Given the description of an element on the screen output the (x, y) to click on. 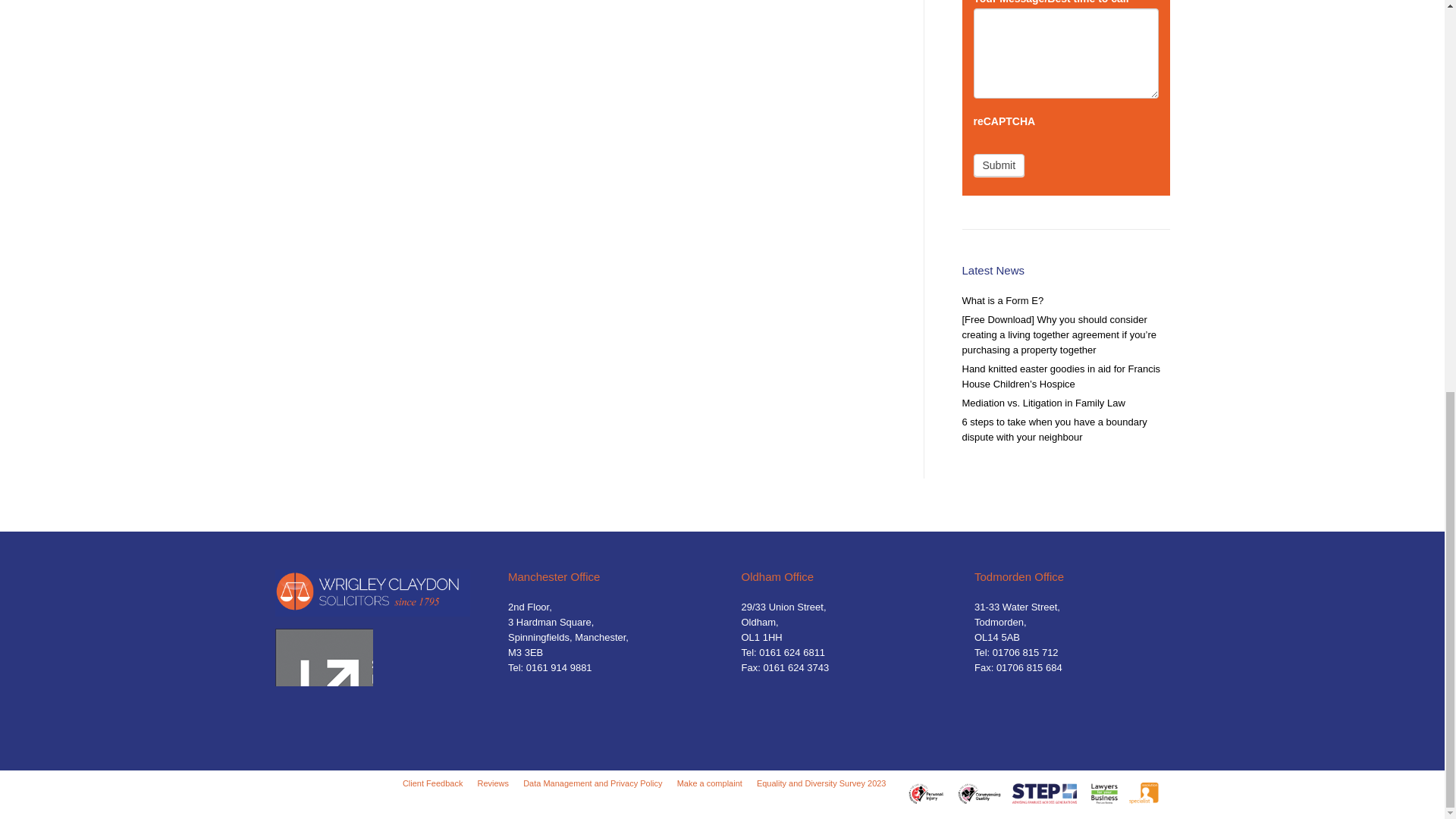
Submit (999, 164)
